Given the description of an element on the screen output the (x, y) to click on. 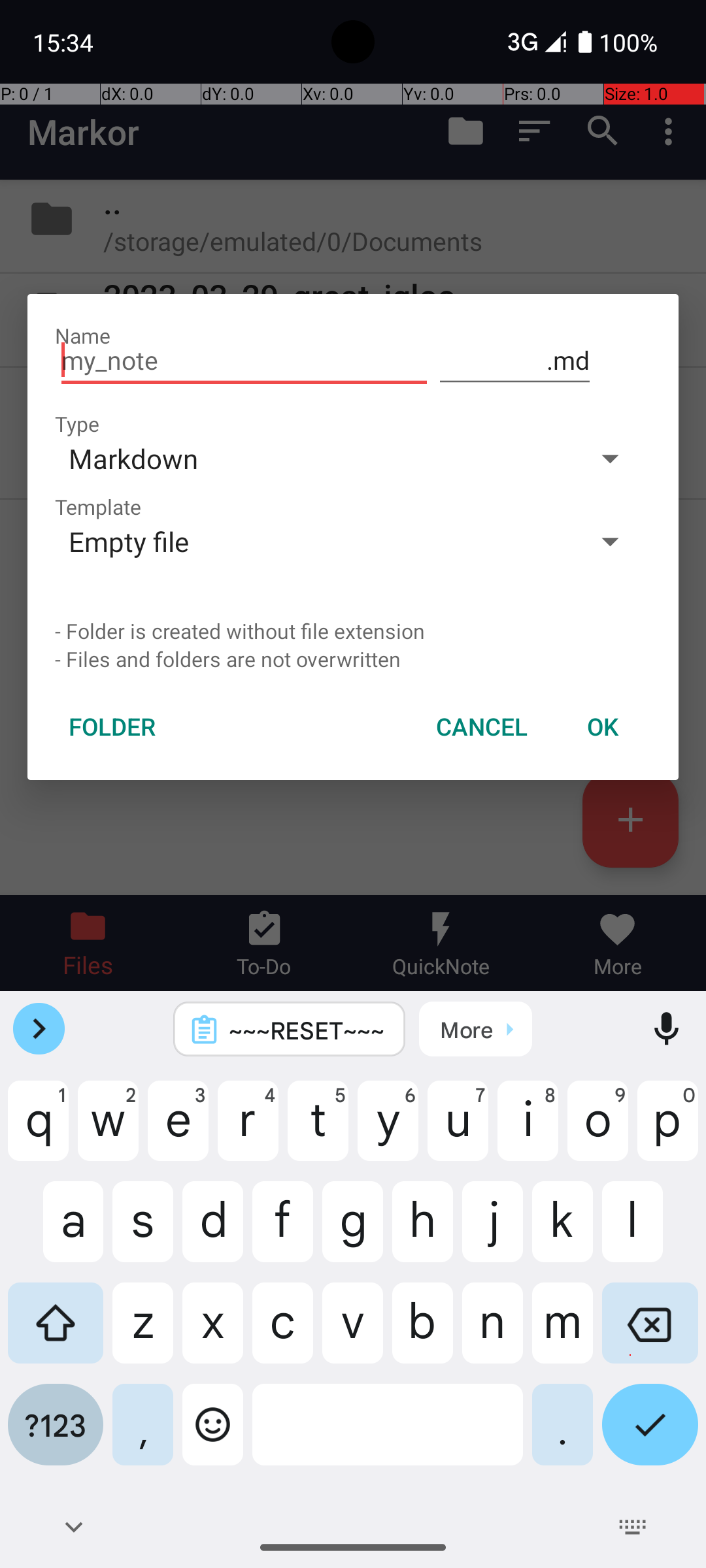
~~~RESET~~~ Element type: android.widget.TextView (306, 1029)
